Given the description of an element on the screen output the (x, y) to click on. 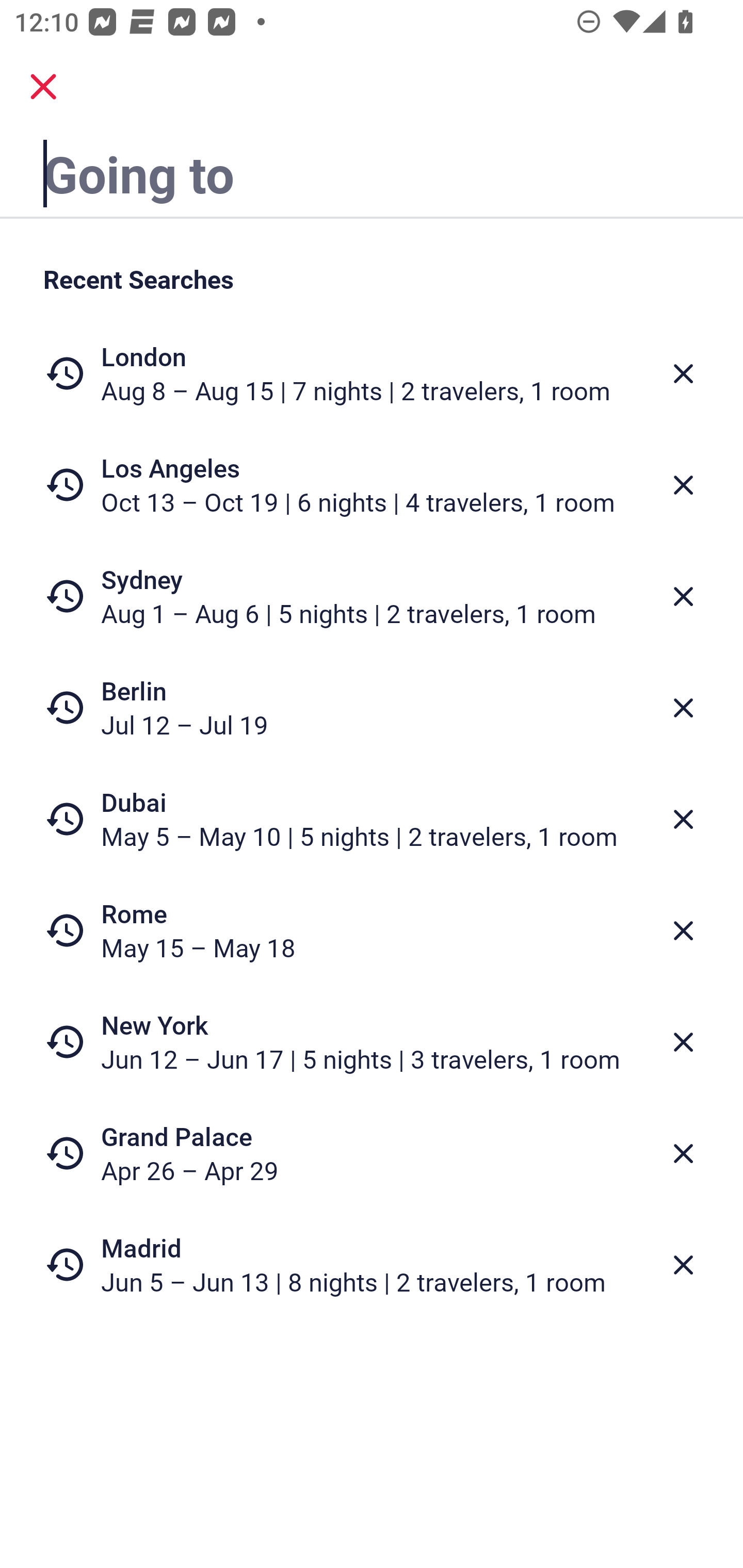
close. (43, 86)
Delete from recent searches (683, 373)
Delete from recent searches (683, 485)
Delete from recent searches (683, 596)
Berlin Jul 12 – Jul 19 (371, 707)
Delete from recent searches (683, 707)
Delete from recent searches (683, 819)
Rome May 15 – May 18 (371, 930)
Delete from recent searches (683, 930)
Delete from recent searches (683, 1041)
Grand Palace Apr 26 – Apr 29 (371, 1152)
Delete from recent searches (683, 1153)
Delete from recent searches (683, 1265)
